Given the description of an element on the screen output the (x, y) to click on. 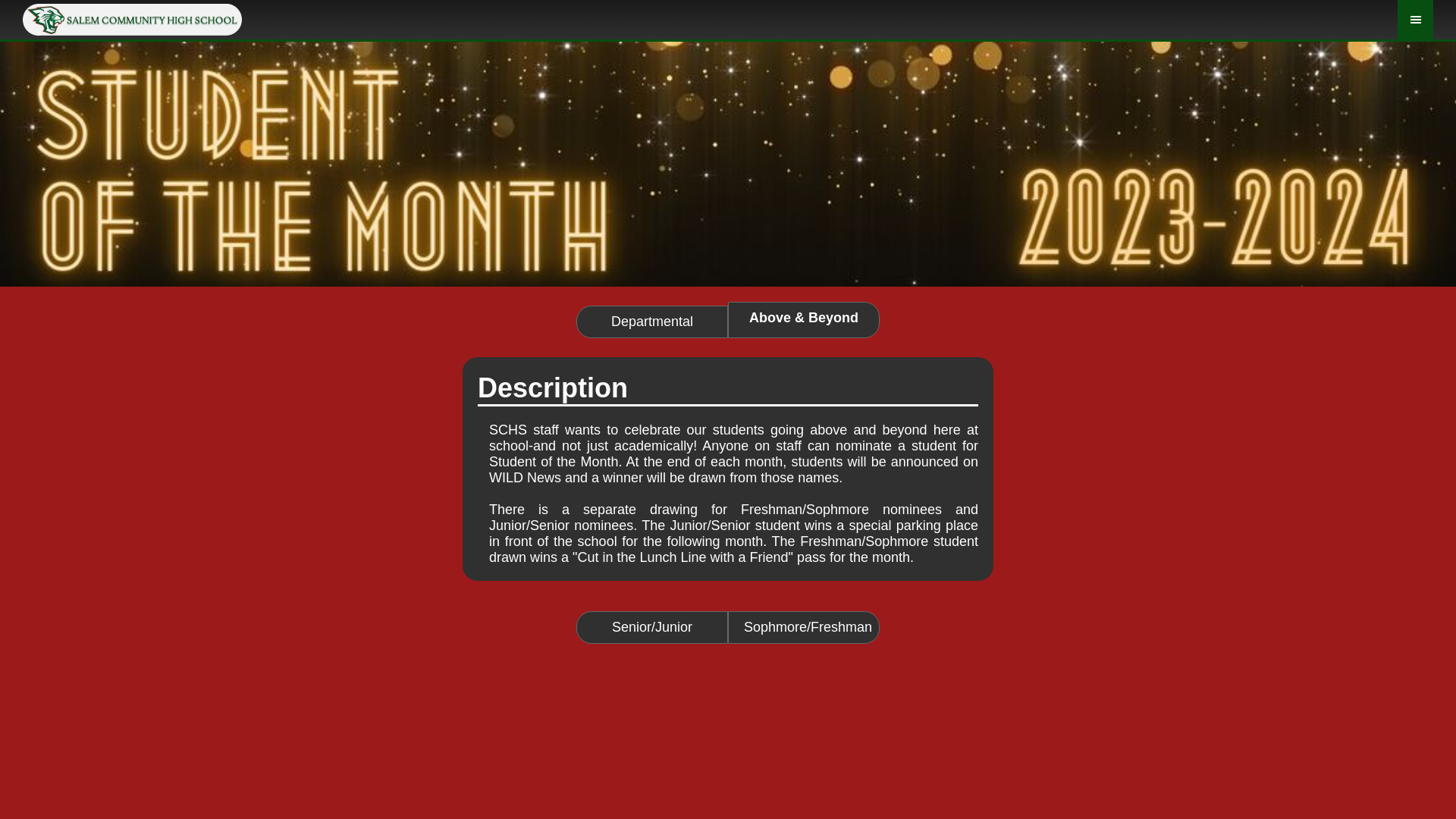
Departmental (652, 321)
